Given the description of an element on the screen output the (x, y) to click on. 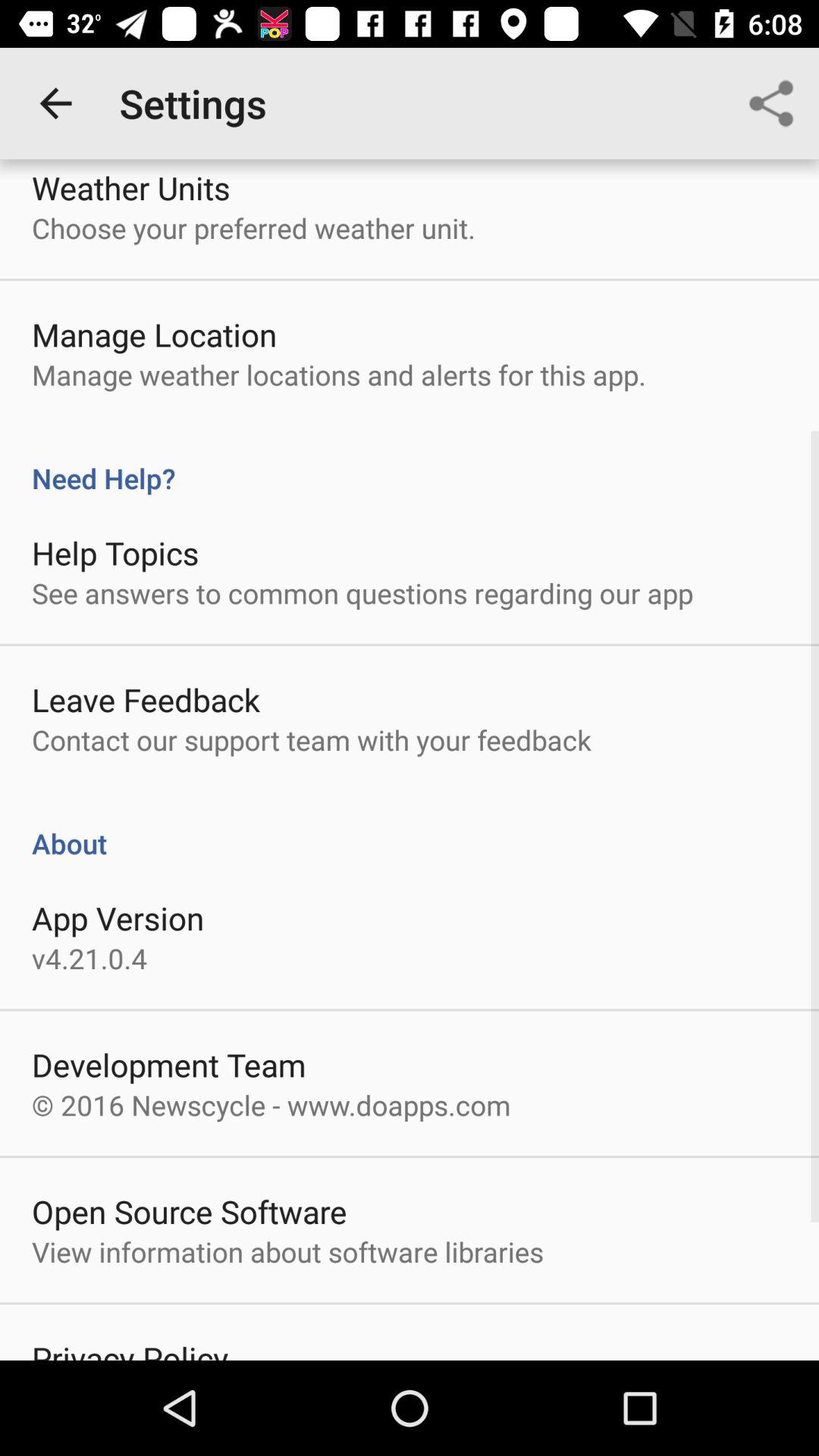
open the icon above the manage weather locations item (153, 334)
